Given the description of an element on the screen output the (x, y) to click on. 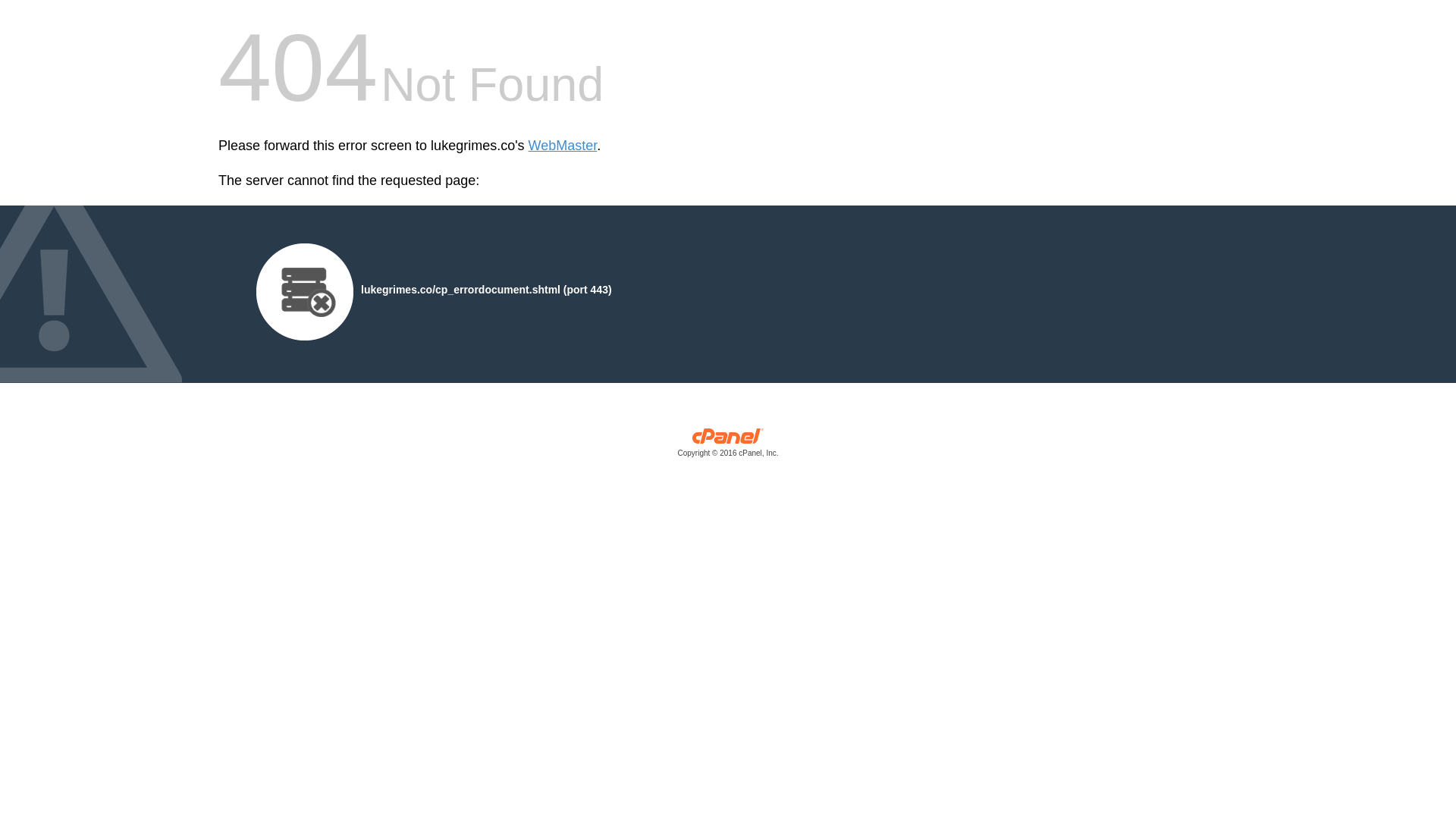
WebMaster (562, 145)
cPanel, Inc. (727, 446)
